Given the description of an element on the screen output the (x, y) to click on. 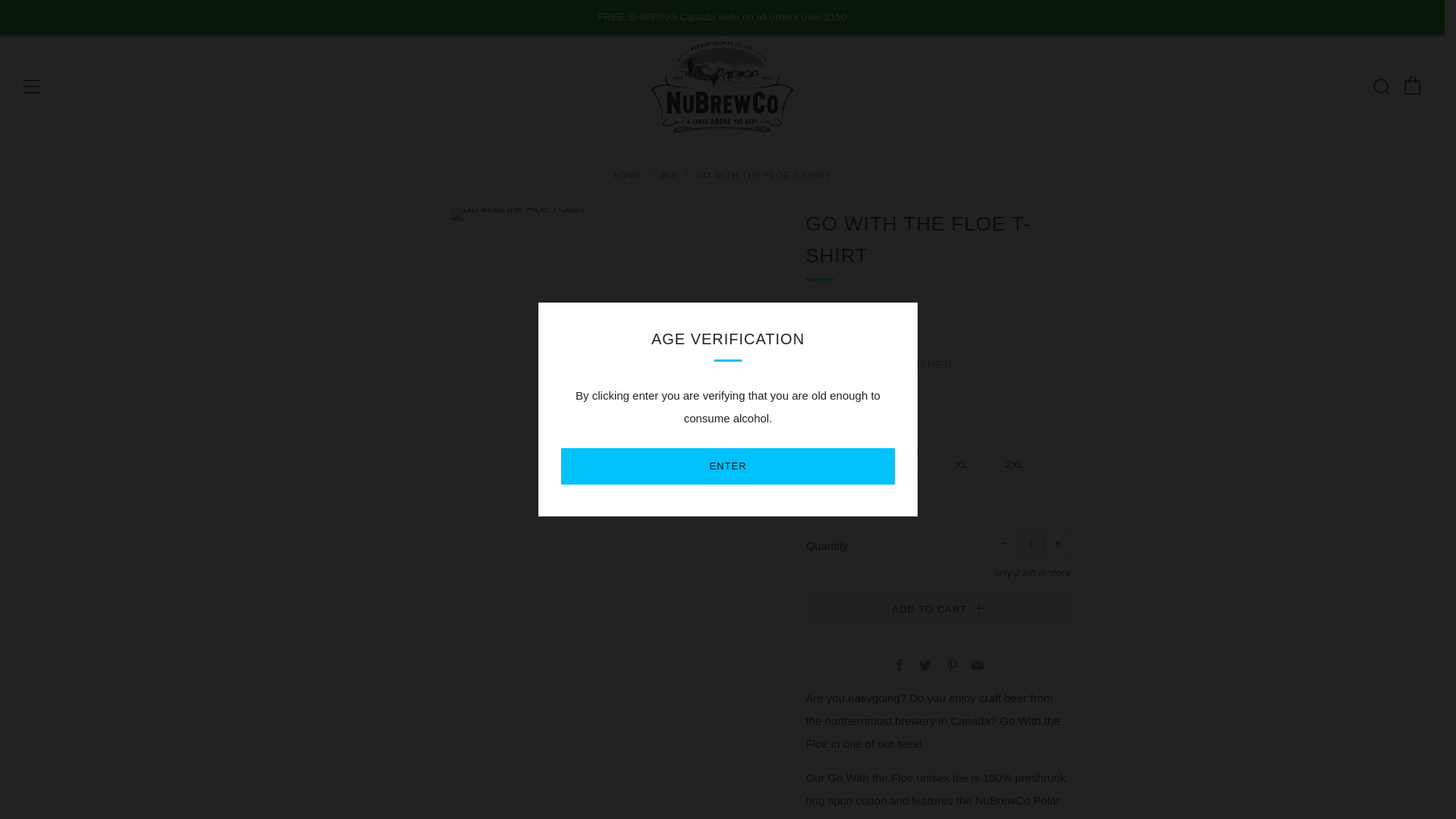
1 (1031, 543)
Menu (31, 86)
Home (627, 174)
Search (1380, 85)
ENTER (727, 465)
Cart (1412, 85)
